Given the description of an element on the screen output the (x, y) to click on. 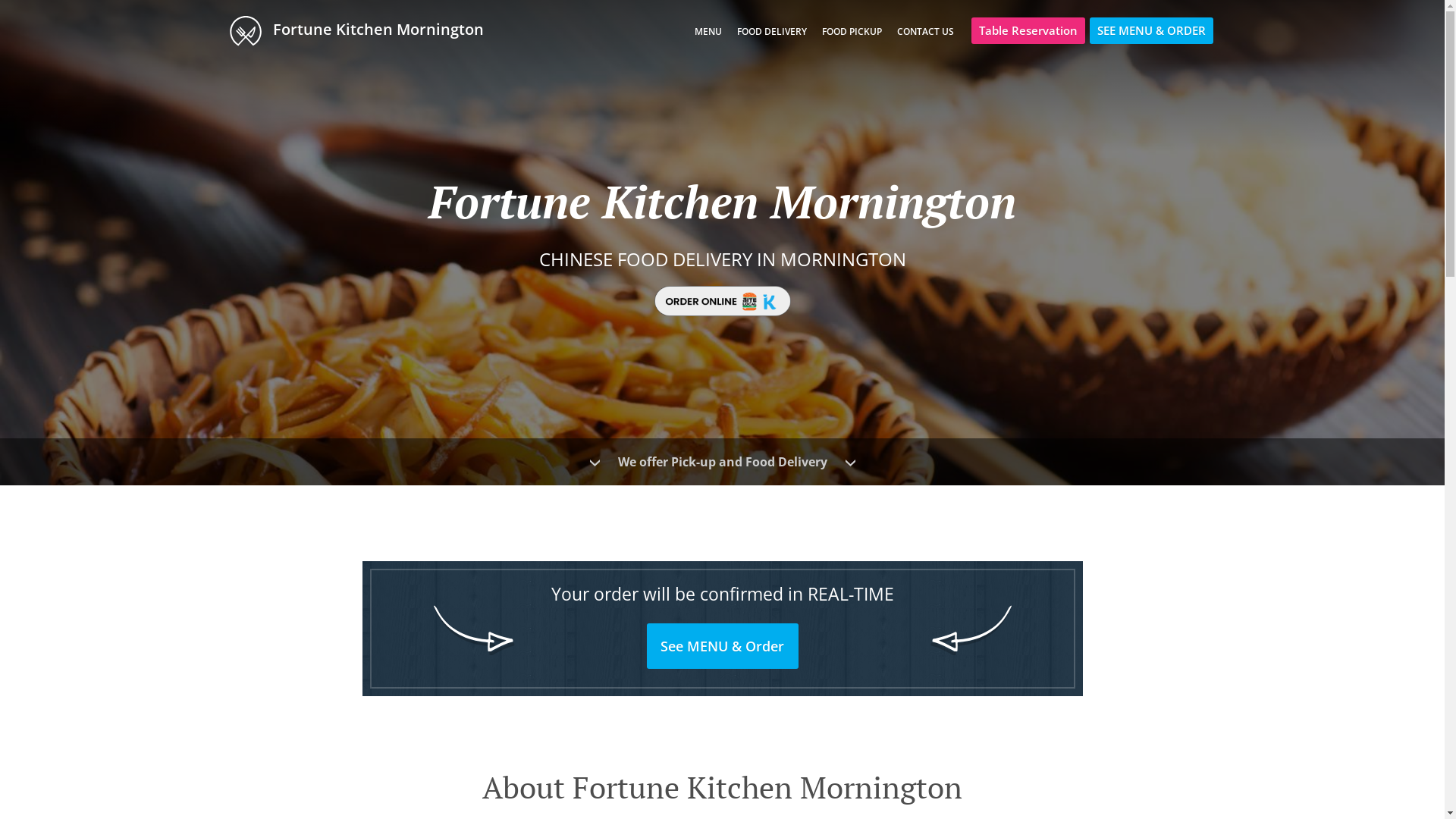
 Fortune Kitchen Mornington Element type: text (363, 30)
FOOD PICKUP Element type: text (851, 31)
CONTACT US Element type: text (924, 31)
SEE MENU & ORDER Element type: text (1151, 30)
FOOD DELIVERY Element type: text (771, 31)
Table Reservation Element type: text (1027, 30)
See MENU & Order Element type: text (722, 646)
MENU Element type: text (707, 31)
